Given the description of an element on the screen output the (x, y) to click on. 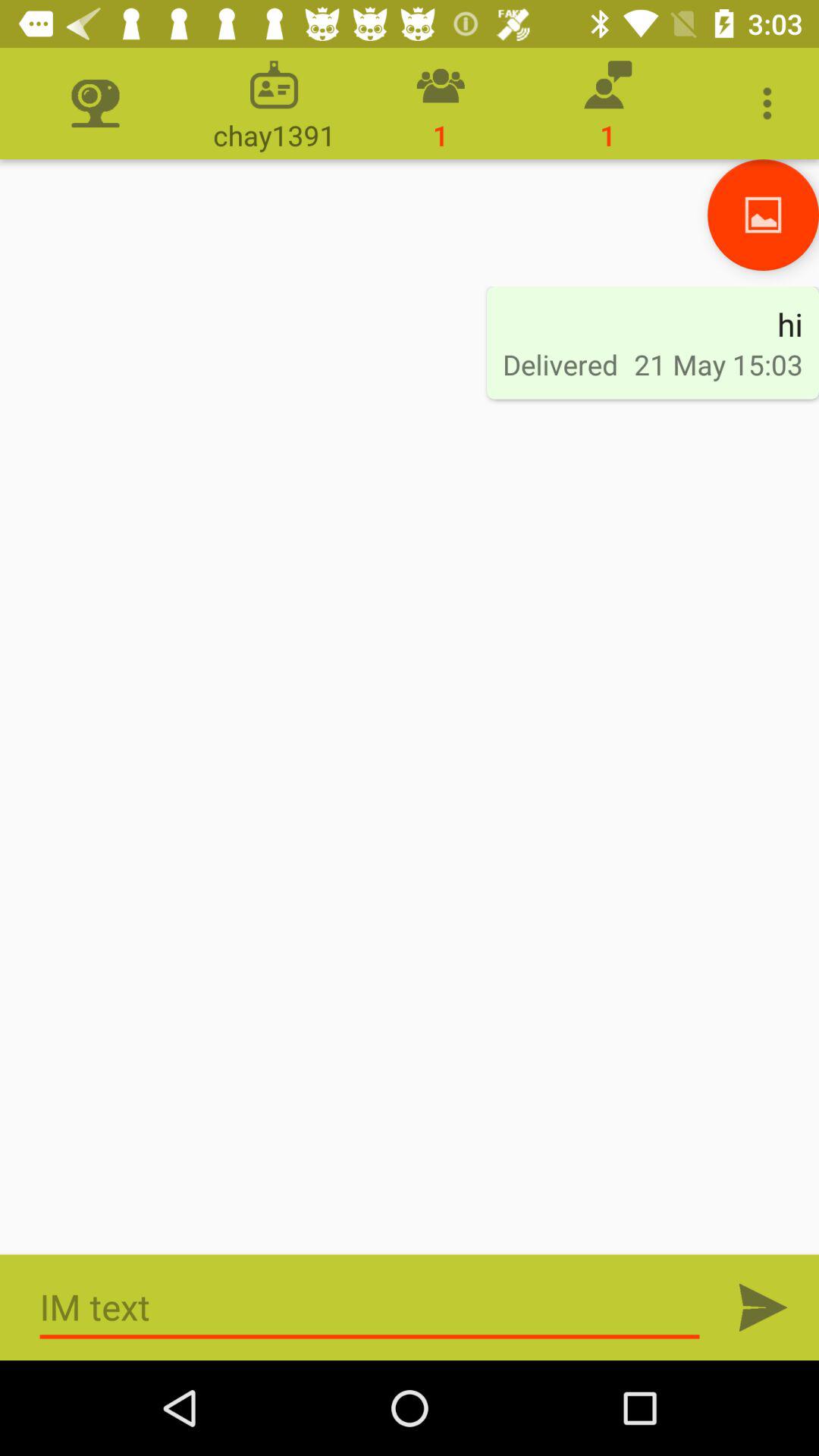
attach image (763, 214)
